Given the description of an element on the screen output the (x, y) to click on. 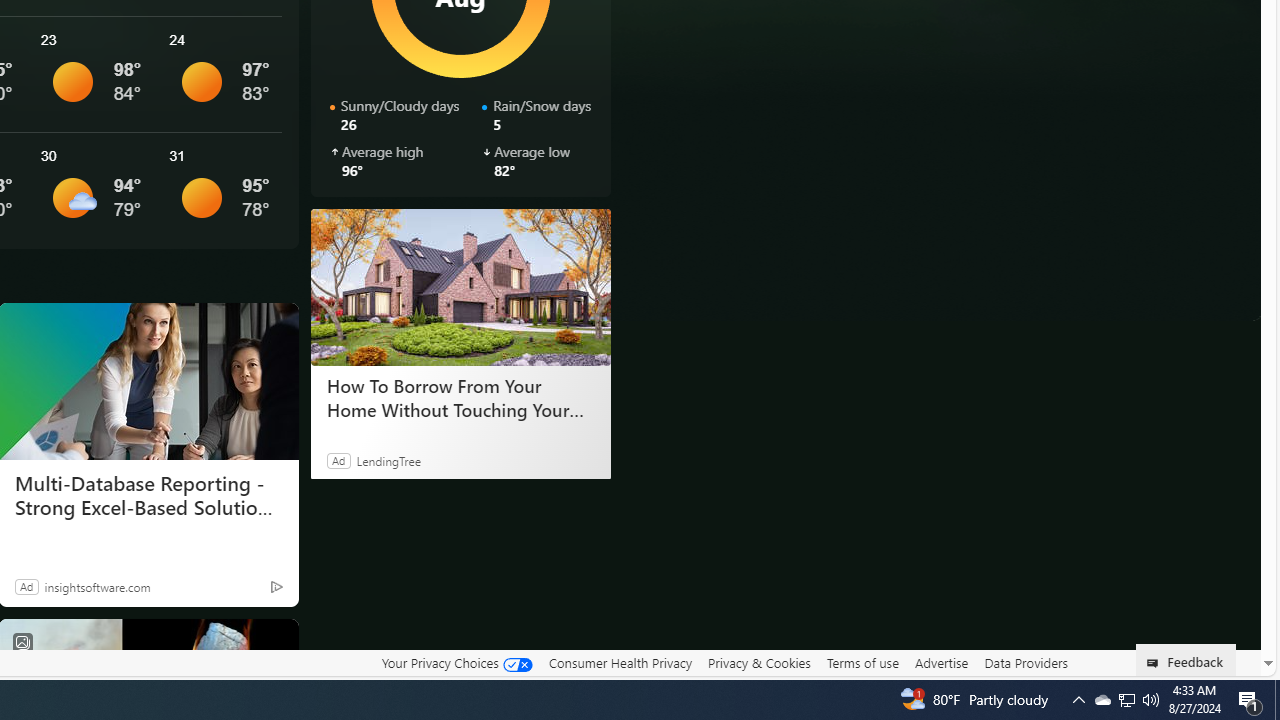
Your Privacy Choices (456, 663)
Data Providers (1025, 663)
Terms of use (861, 663)
Class: feedback_link_icon-DS-EntryPoint1-1 (1156, 663)
How To Borrow From Your Home Without Touching Your Mortgage (460, 397)
Privacy & Cookies (759, 663)
How To Borrow From Your Home Without Touching Your Mortgage (459, 286)
Consumer Health Privacy (619, 662)
